Given the description of an element on the screen output the (x, y) to click on. 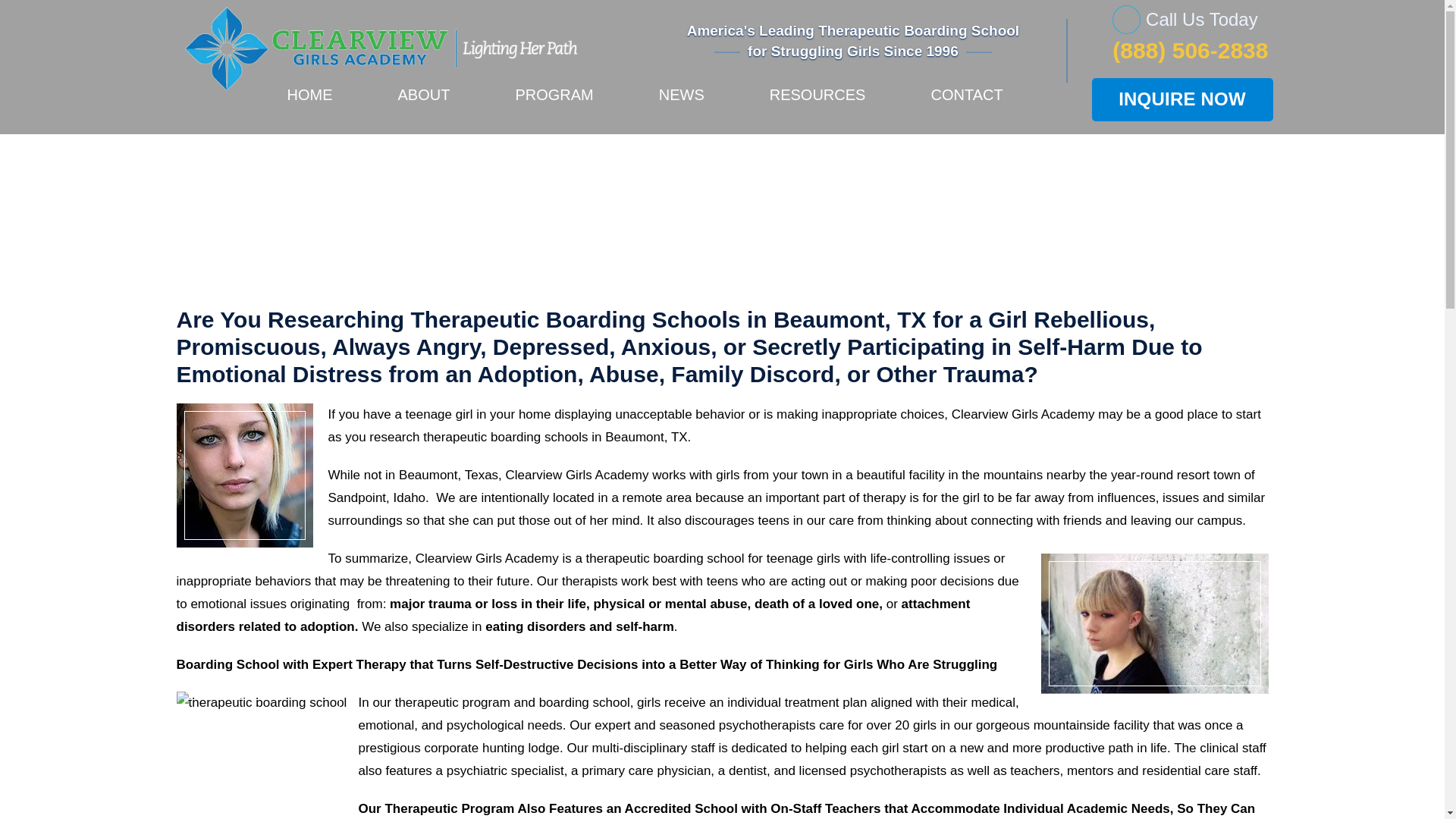
Home (556, 207)
RESOURCES (817, 104)
CONTACT (965, 104)
INQUIRE NOW (1182, 99)
Academy (1067, 414)
PROGRAM (553, 104)
NEWS (681, 104)
therapeutic (454, 436)
HOME (309, 104)
boarding school (698, 558)
